Given the description of an element on the screen output the (x, y) to click on. 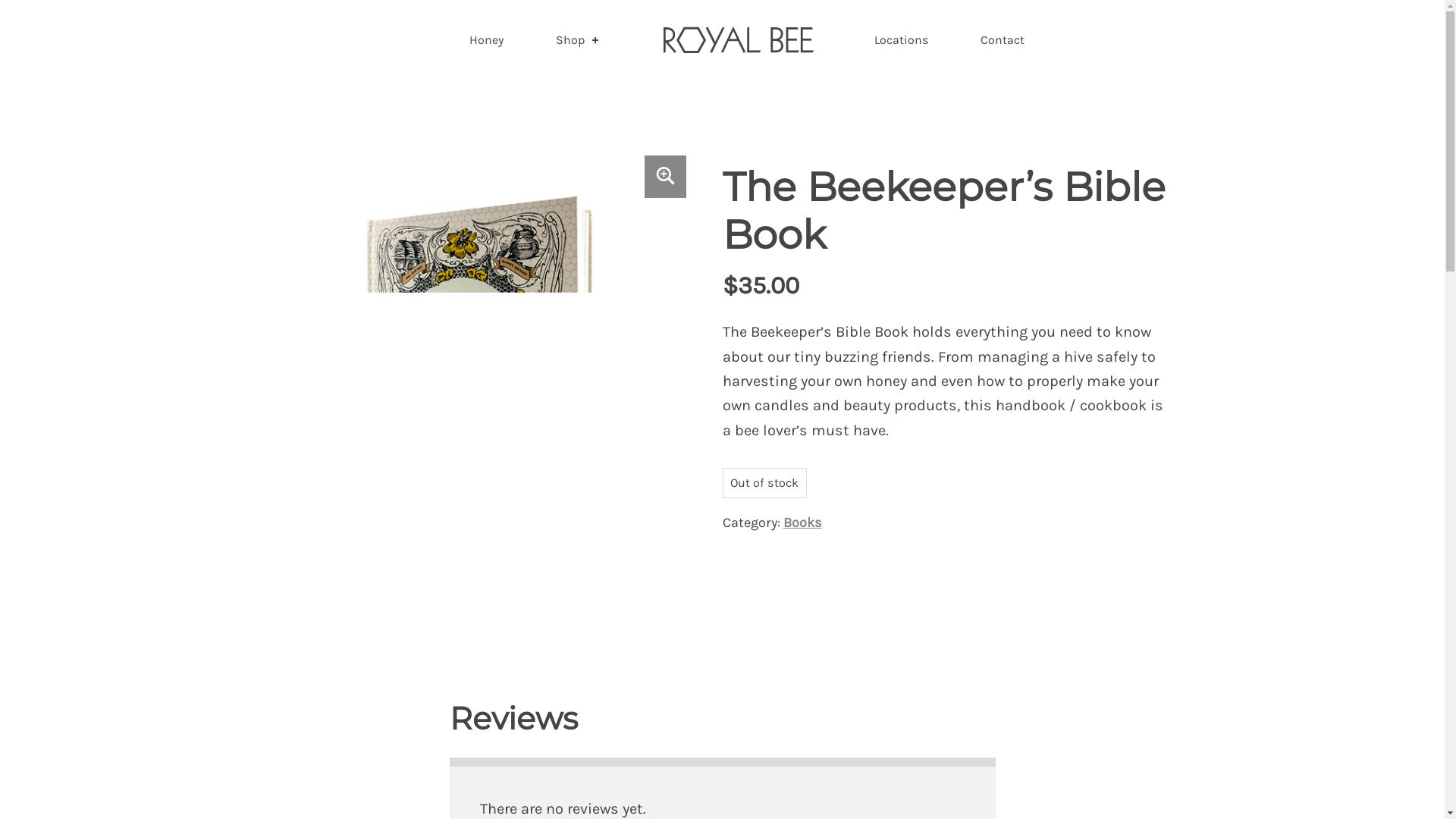
Honey Element type: text (485, 38)
Shop Element type: text (577, 38)
. Element type: text (736, 38)
Locations Element type: text (900, 38)
Contact Element type: text (1001, 38)
Royal Bee Element type: text (283, 42)
Books Element type: text (801, 522)
